Given the description of an element on the screen output the (x, y) to click on. 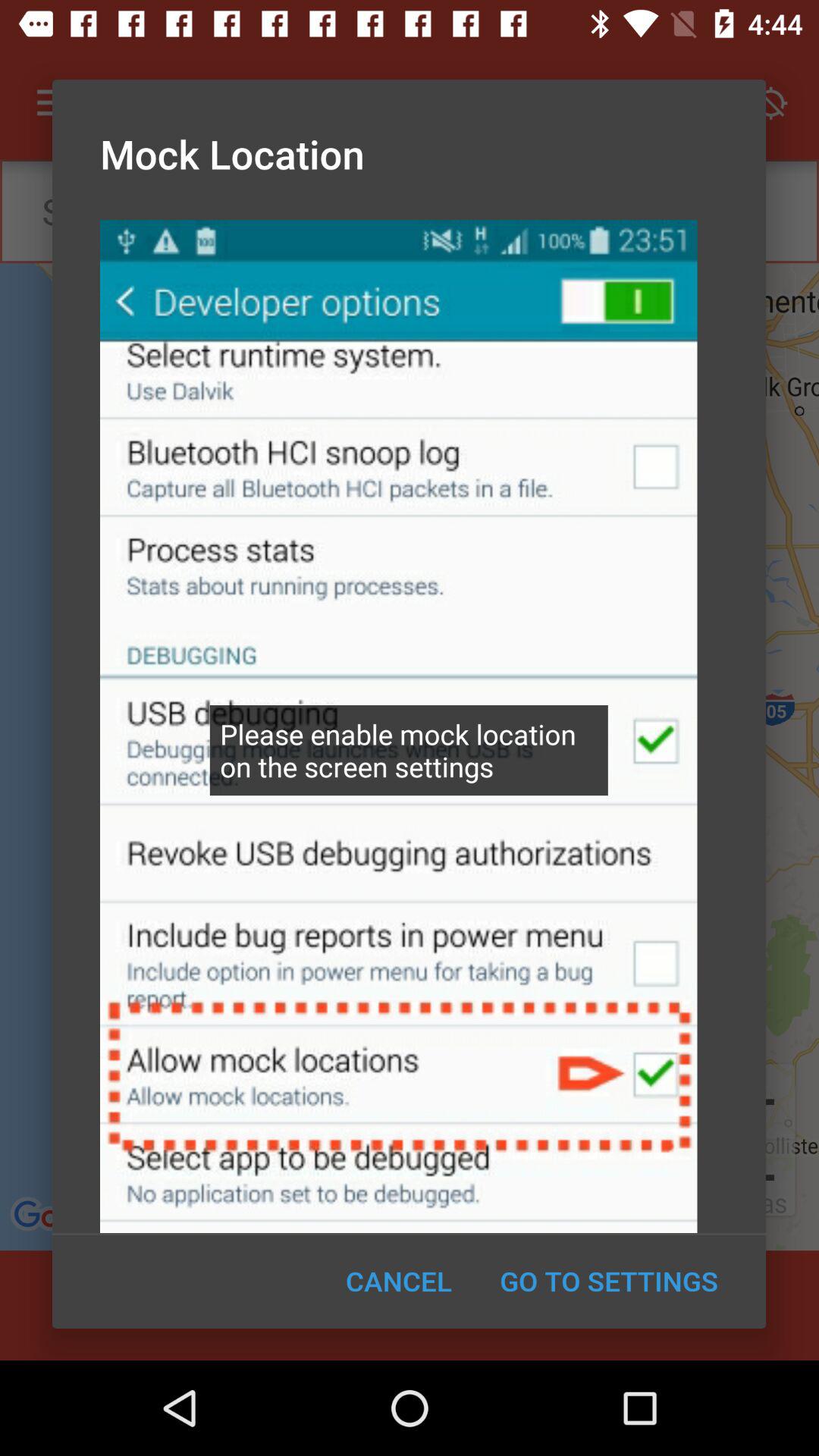
choose the icon to the right of cancel (609, 1280)
